Given the description of an element on the screen output the (x, y) to click on. 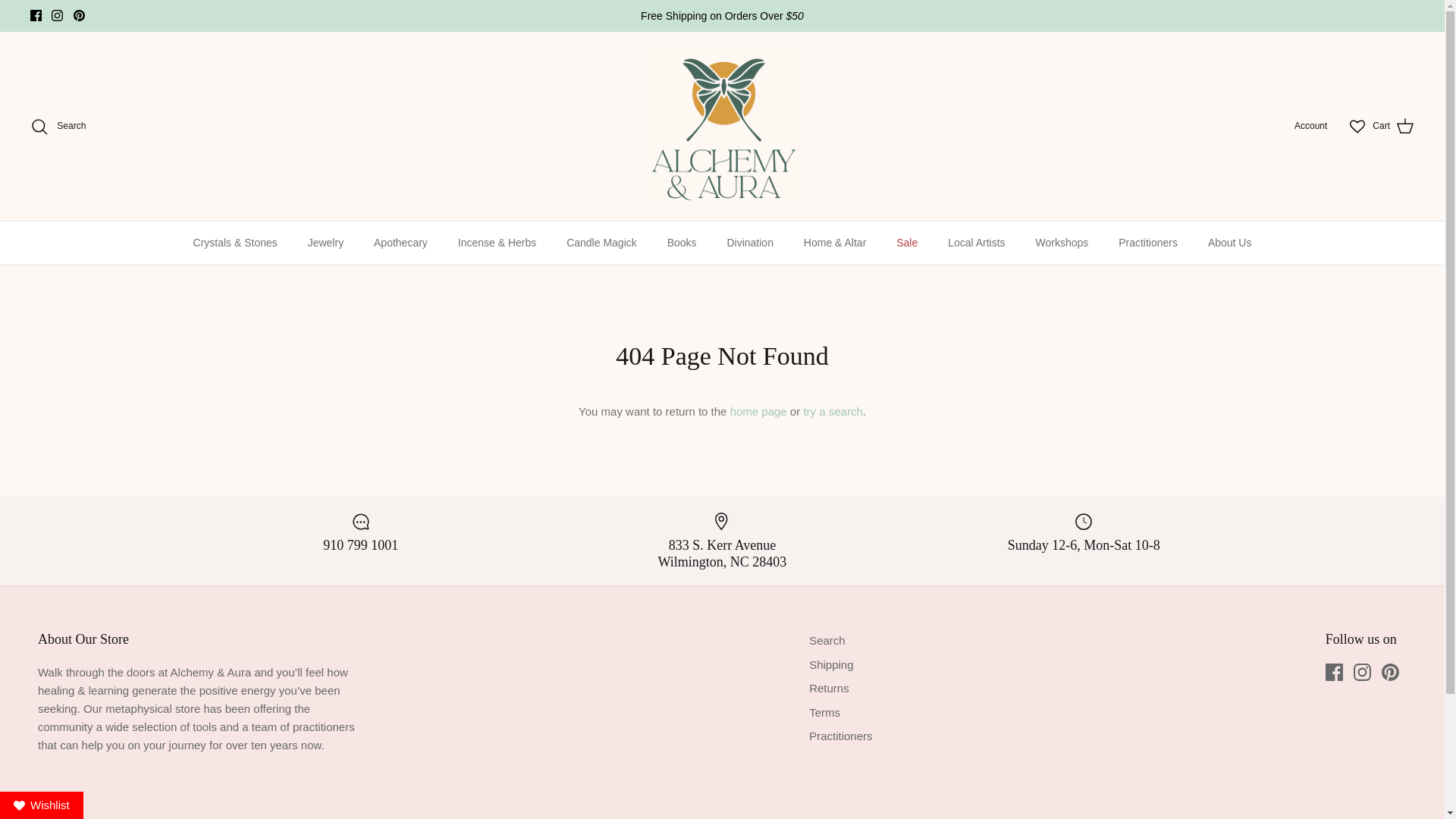
Cart (1393, 126)
Instagram (56, 15)
Facebook (36, 15)
Pinterest (79, 15)
Search (57, 126)
Instagram (56, 15)
Account (1310, 125)
Instagram (1362, 671)
Pinterest (79, 15)
Pinterest (1390, 671)
